Given the description of an element on the screen output the (x, y) to click on. 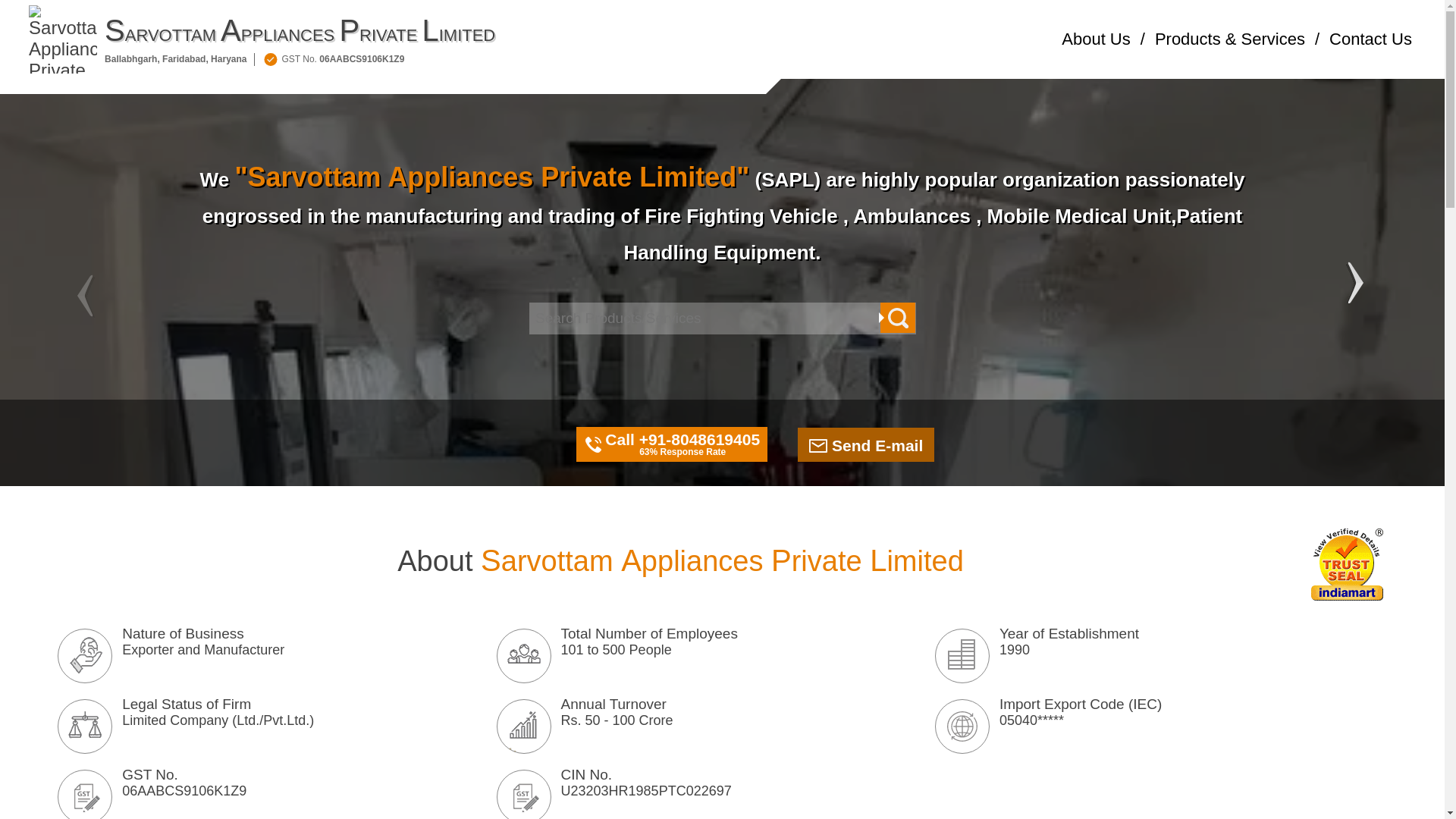
Contact Us (1370, 39)
About Us (1096, 39)
